Given the description of an element on the screen output the (x, y) to click on. 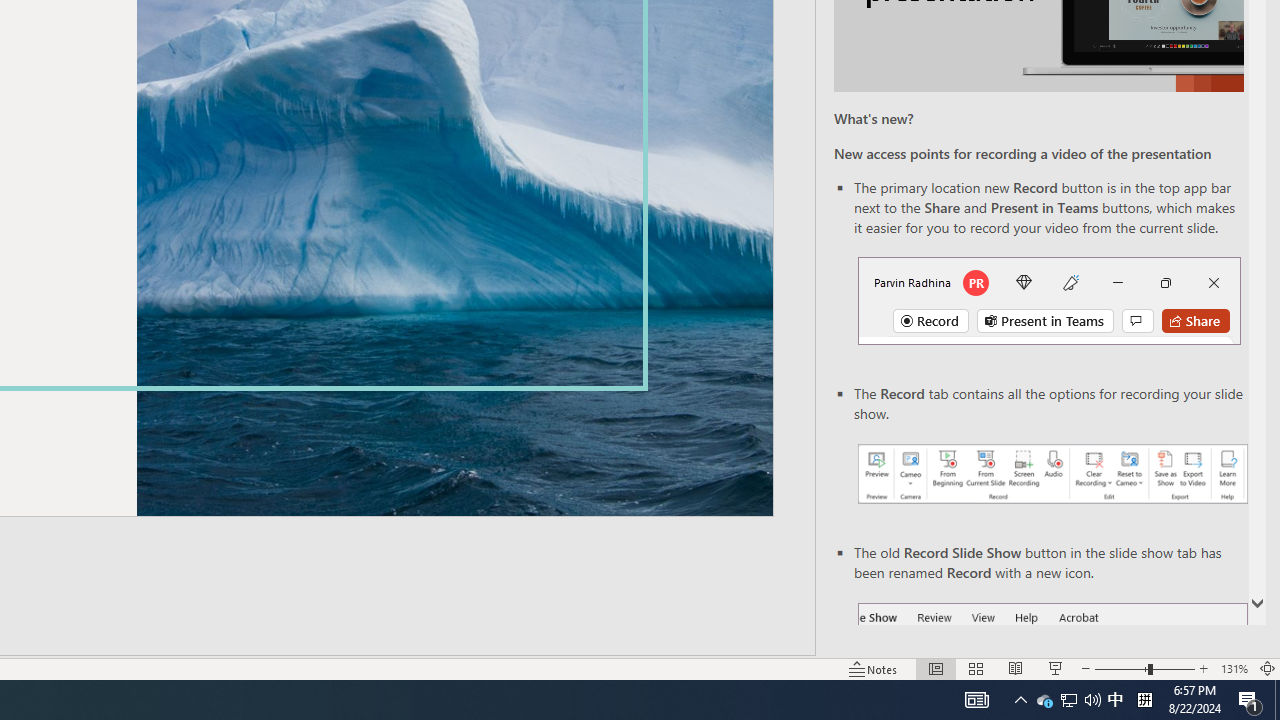
Notes  (874, 668)
Record button in top bar (1049, 300)
Zoom Out (1121, 668)
Record your presentations screenshot one (1052, 473)
Reading View (1015, 668)
Zoom In (1204, 668)
Zoom 131% (1234, 668)
Zoom (1144, 668)
Zoom to Fit  (1267, 668)
Slide Sorter (975, 668)
Normal (936, 668)
